Given the description of an element on the screen output the (x, y) to click on. 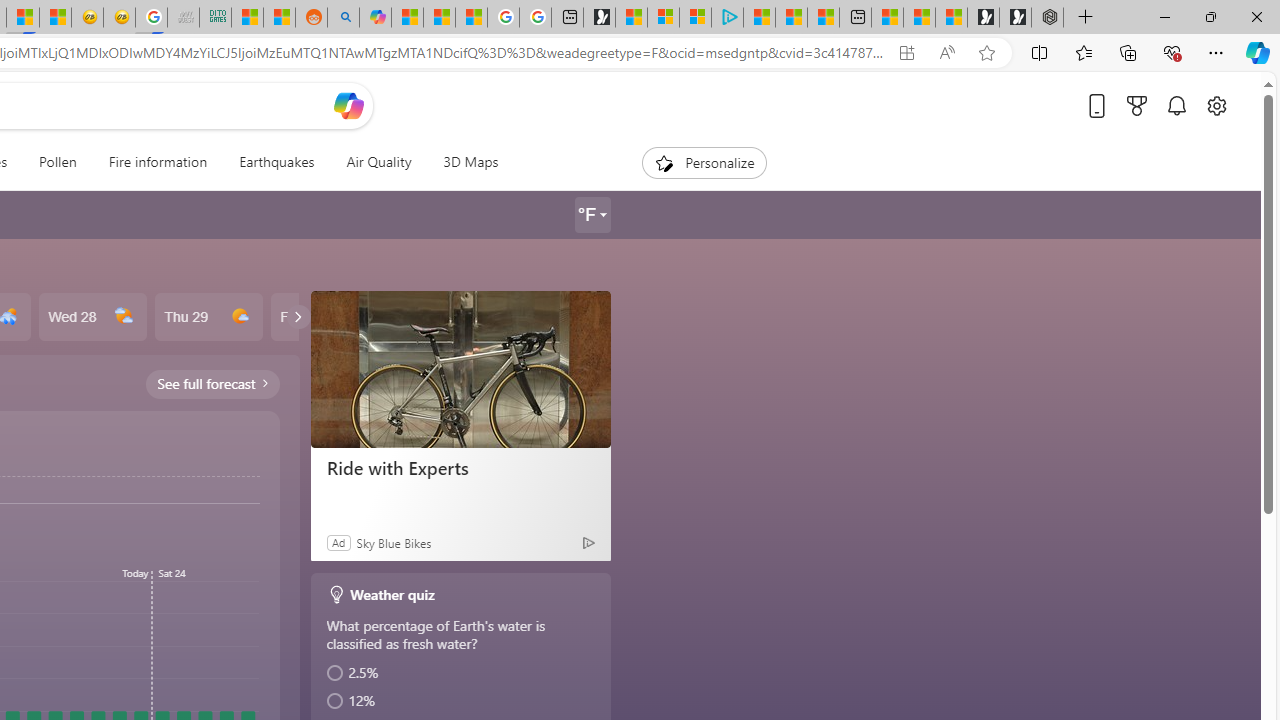
Earthquakes (276, 162)
Ride with Experts (459, 368)
Air Quality (378, 162)
App available. Install Microsoft Start Weather (906, 53)
Pollen (57, 162)
Microsoft Copilot in Bing (374, 17)
Ride with Experts (460, 467)
